Given the description of an element on the screen output the (x, y) to click on. 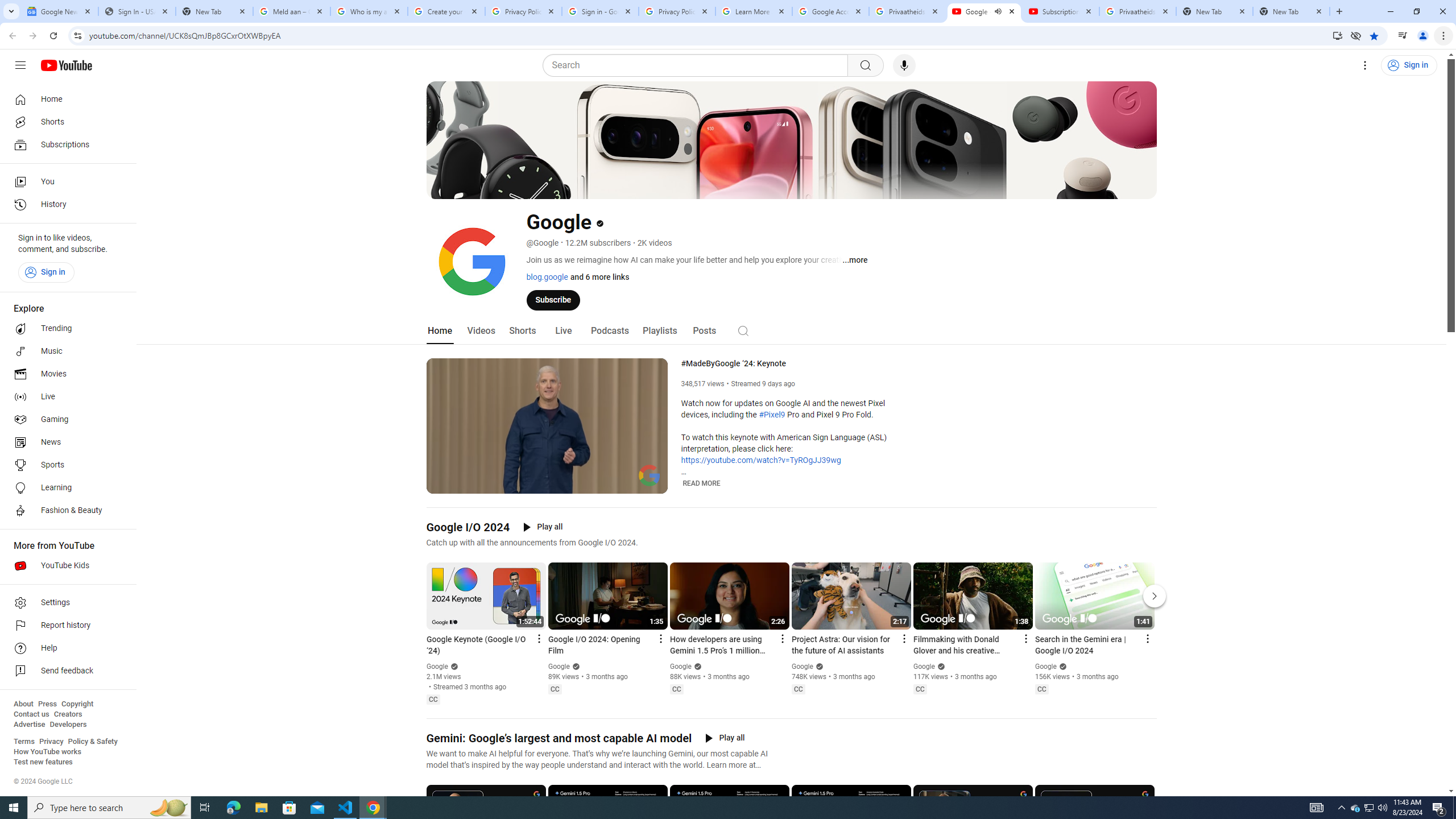
Sign In - USA TODAY (136, 11)
Playlists (659, 330)
Videos (481, 330)
Posts (703, 330)
Sign in - Google Accounts (599, 11)
Live (562, 330)
Guide (20, 65)
